Given the description of an element on the screen output the (x, y) to click on. 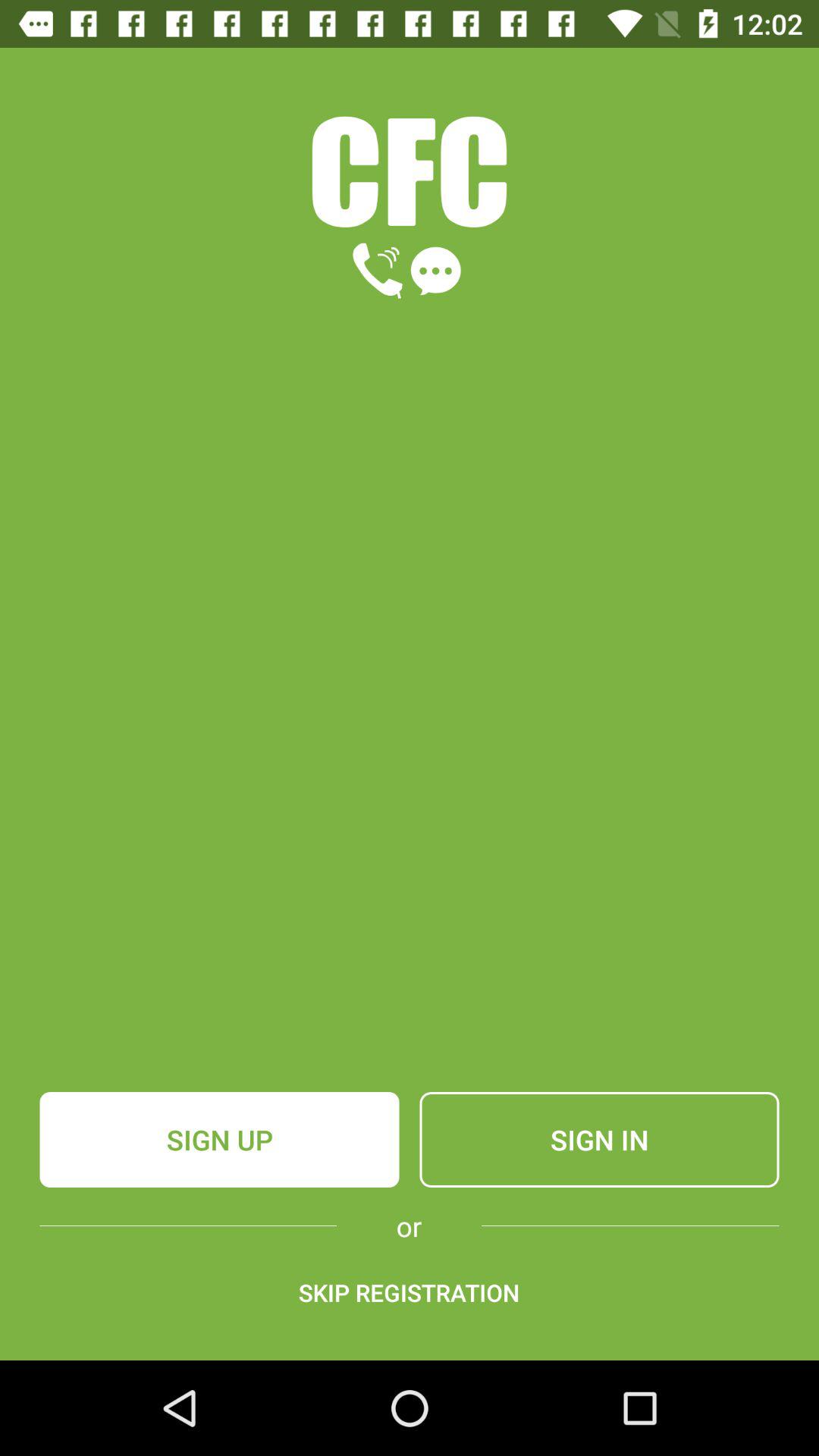
flip until sign up item (219, 1139)
